Given the description of an element on the screen output the (x, y) to click on. 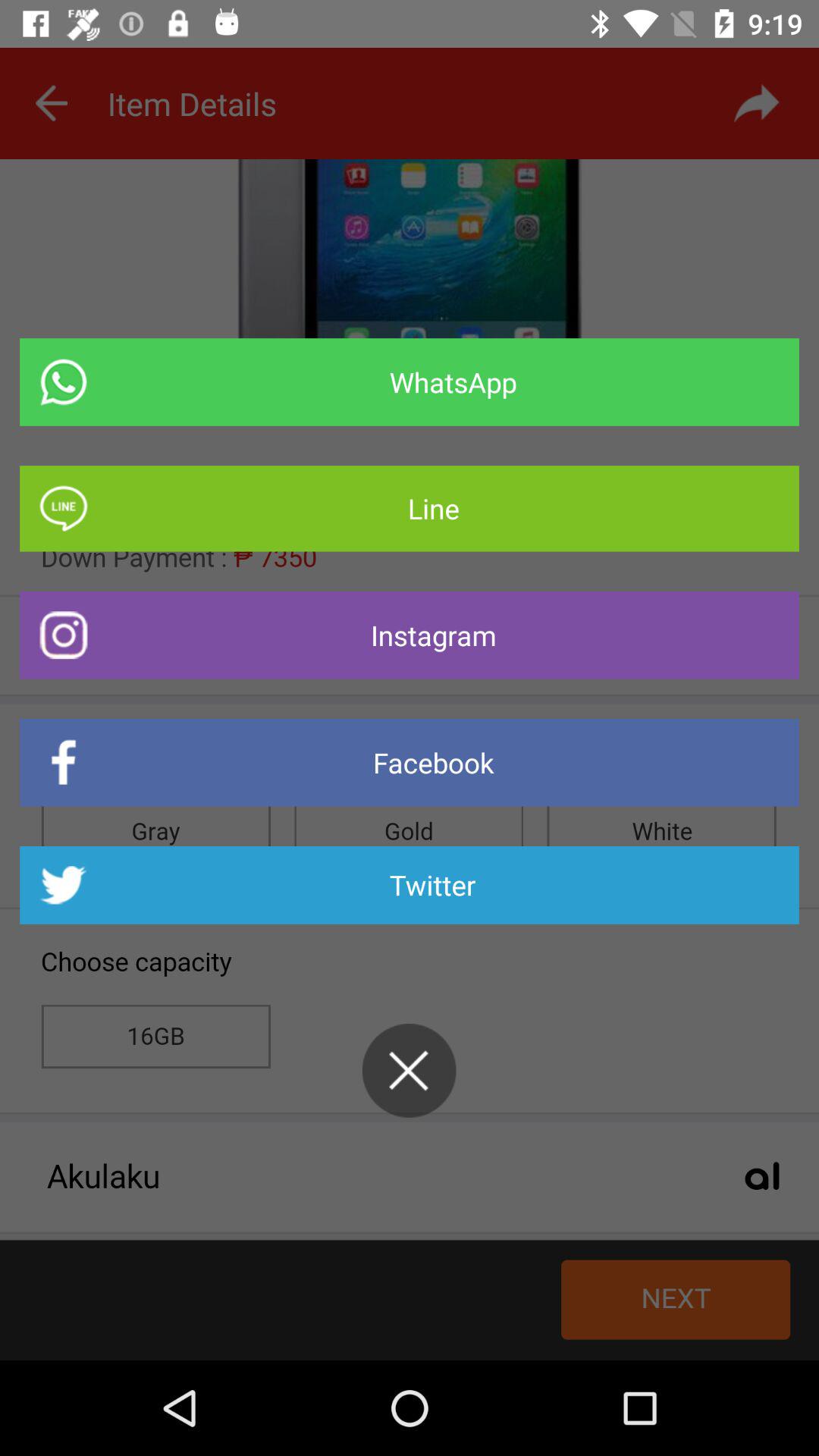
open line icon (409, 508)
